Given the description of an element on the screen output the (x, y) to click on. 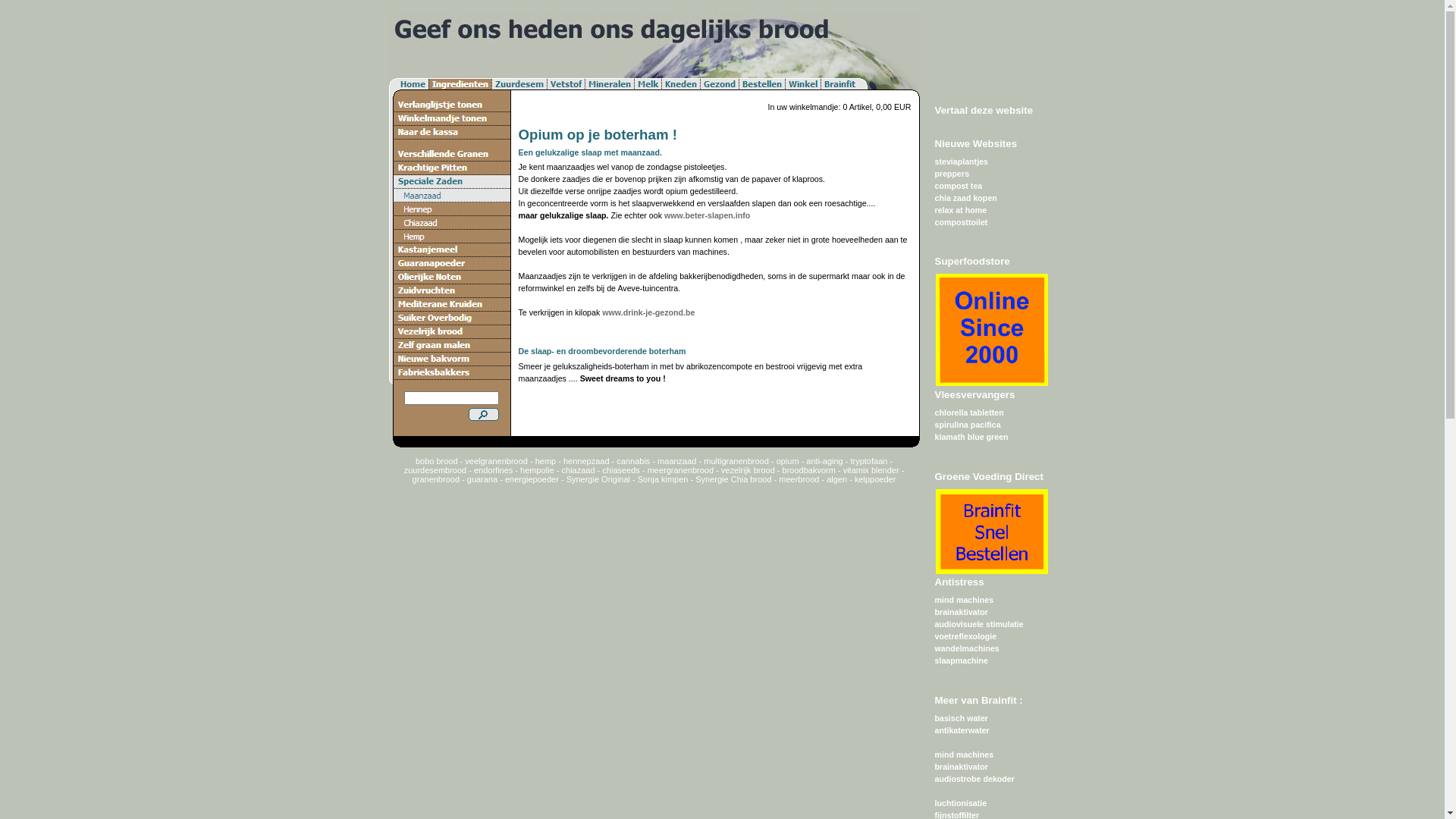
brainaktivator Element type: text (960, 611)
audiostrobe dekoder Element type: text (973, 778)
chlorella tabletten Element type: text (968, 412)
mind machines Element type: text (963, 754)
chia zaad kopen Element type: text (965, 197)
relax at home Element type: text (960, 209)
klamath blue green Element type: text (970, 436)
wandelmachines Element type: text (966, 647)
spirulina pacifica Element type: text (967, 424)
preppers Element type: text (951, 173)
slaapmachine Element type: text (960, 660)
steviaplantjes Element type: text (960, 161)
luchtionisatie Element type: text (960, 802)
brainaktivator Element type: text (960, 766)
composttoilet Element type: text (960, 221)
compost tea Element type: text (958, 185)
mind machines Element type: text (963, 599)
www.drink-je-gezond.be Element type: text (648, 311)
voetreflexologie Element type: text (965, 635)
www.beter-slapen.info Element type: text (706, 214)
antikaterwater Element type: text (961, 729)
audiovisuele stimulatie Element type: text (978, 623)
basisch water Element type: text (960, 717)
